Given the description of an element on the screen output the (x, y) to click on. 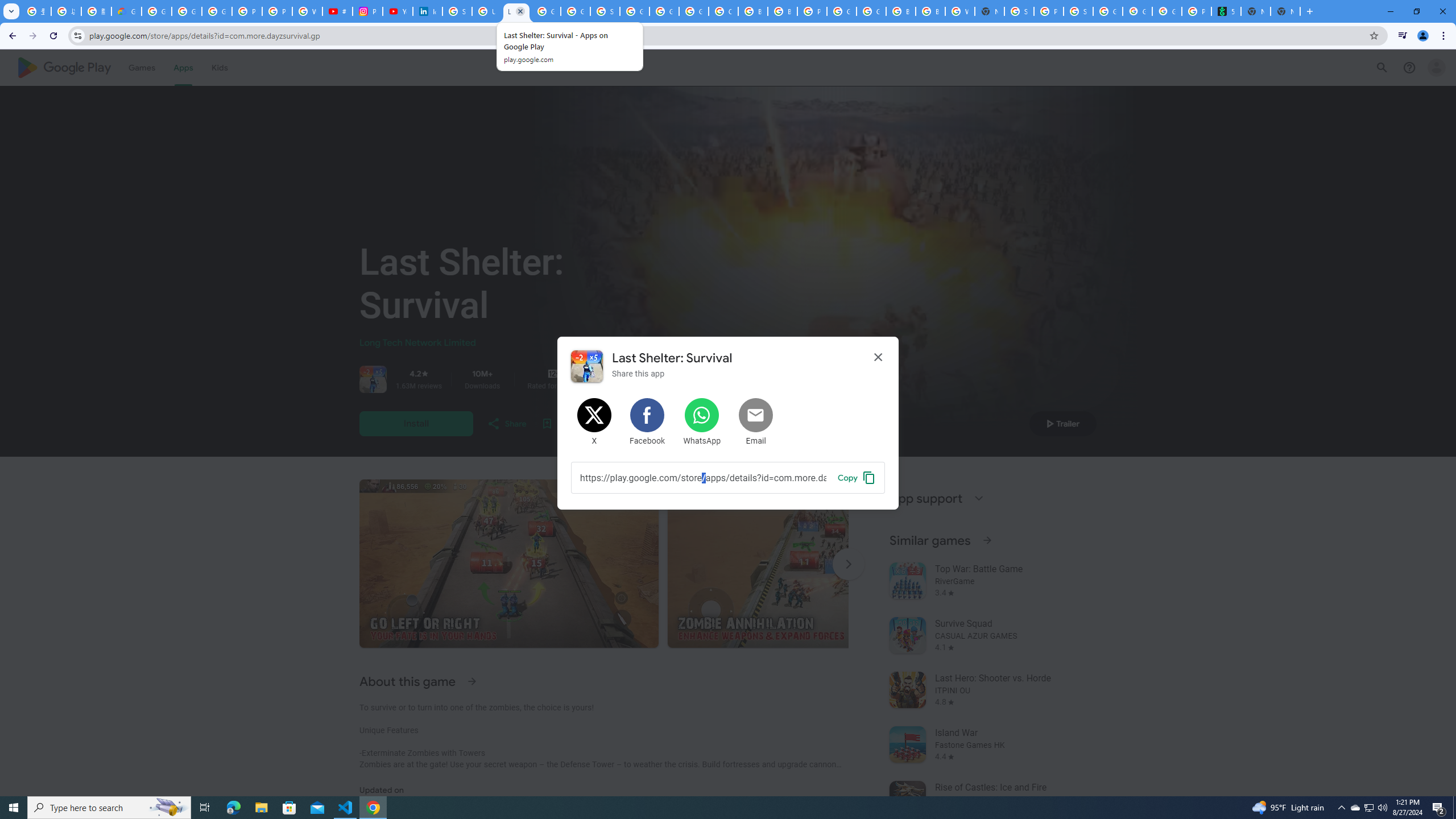
New Tab (1284, 11)
Sign in - Google Accounts (456, 11)
Google Cloud Platform (841, 11)
Share on Facebook (647, 421)
Copy link to clipboard (856, 477)
Browse Chrome as a guest - Computer - Google Chrome Help (753, 11)
